Given the description of an element on the screen output the (x, y) to click on. 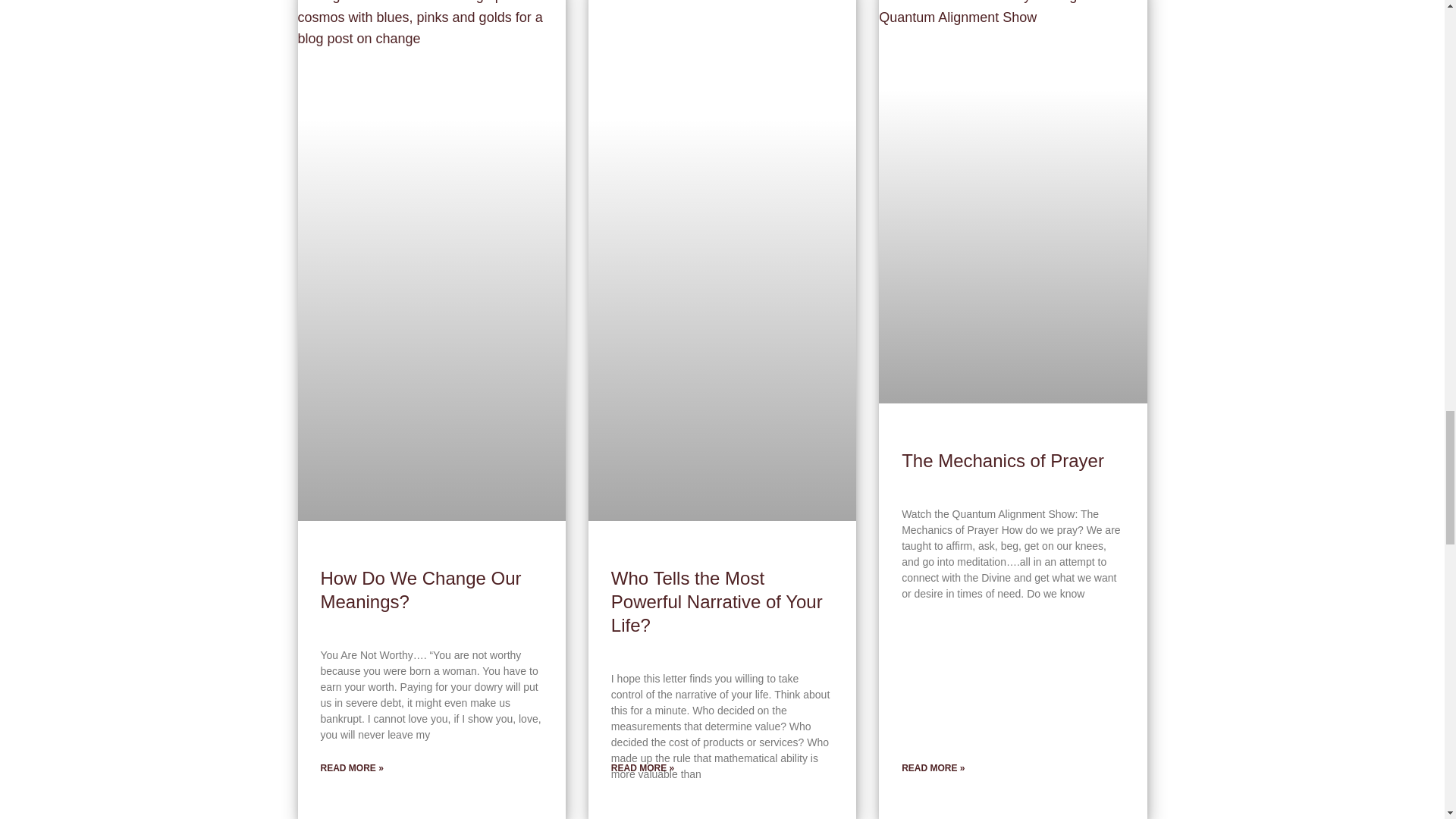
How Do We Change Our Meanings? (420, 589)
Who Tells the Most Powerful Narrative of Your Life? (716, 601)
The Mechanics of Prayer (1002, 460)
